Given the description of an element on the screen output the (x, y) to click on. 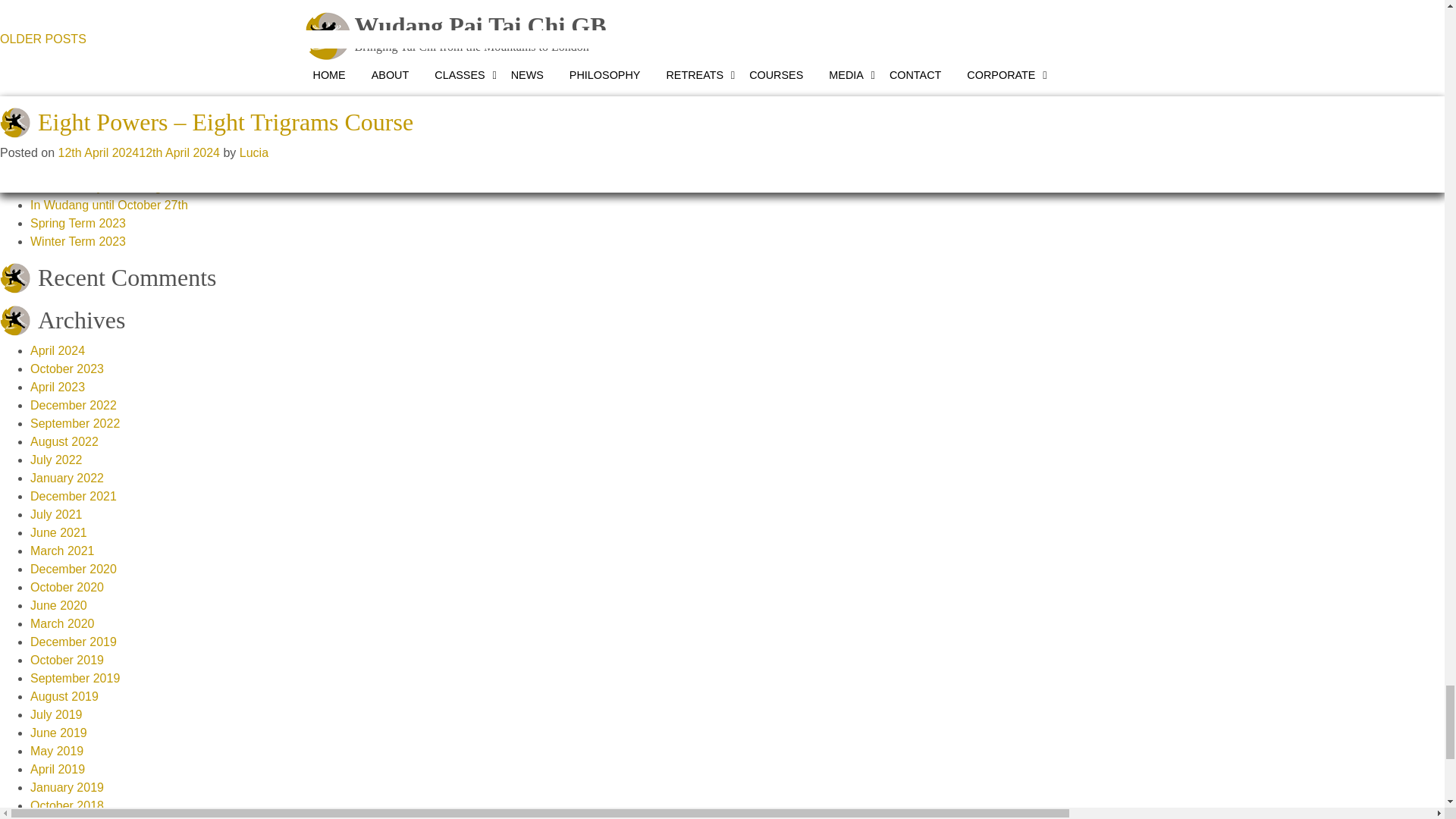
Search (722, 109)
Search (722, 109)
